Given the description of an element on the screen output the (x, y) to click on. 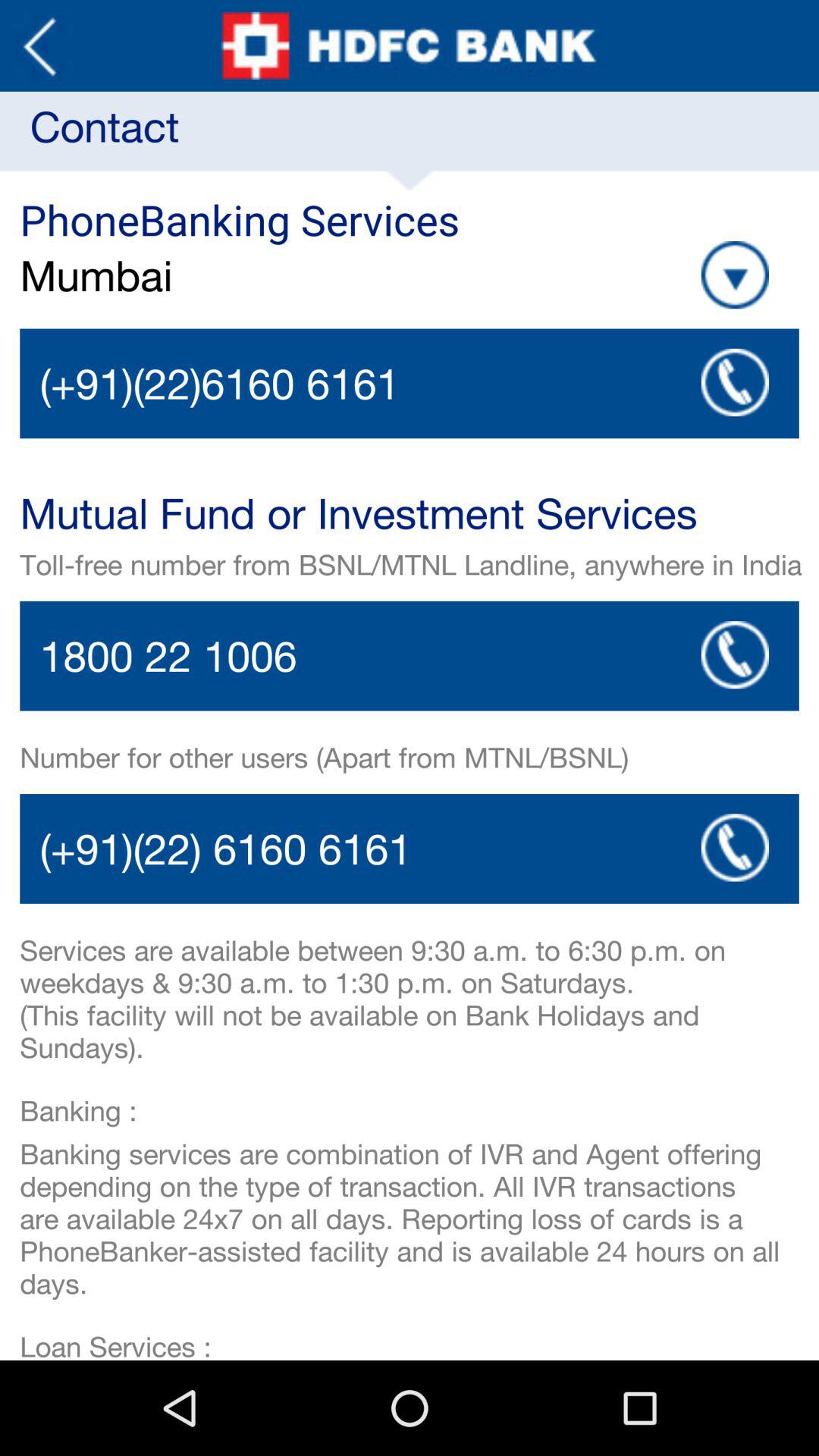
flip to mumbai item (248, 275)
